Given the description of an element on the screen output the (x, y) to click on. 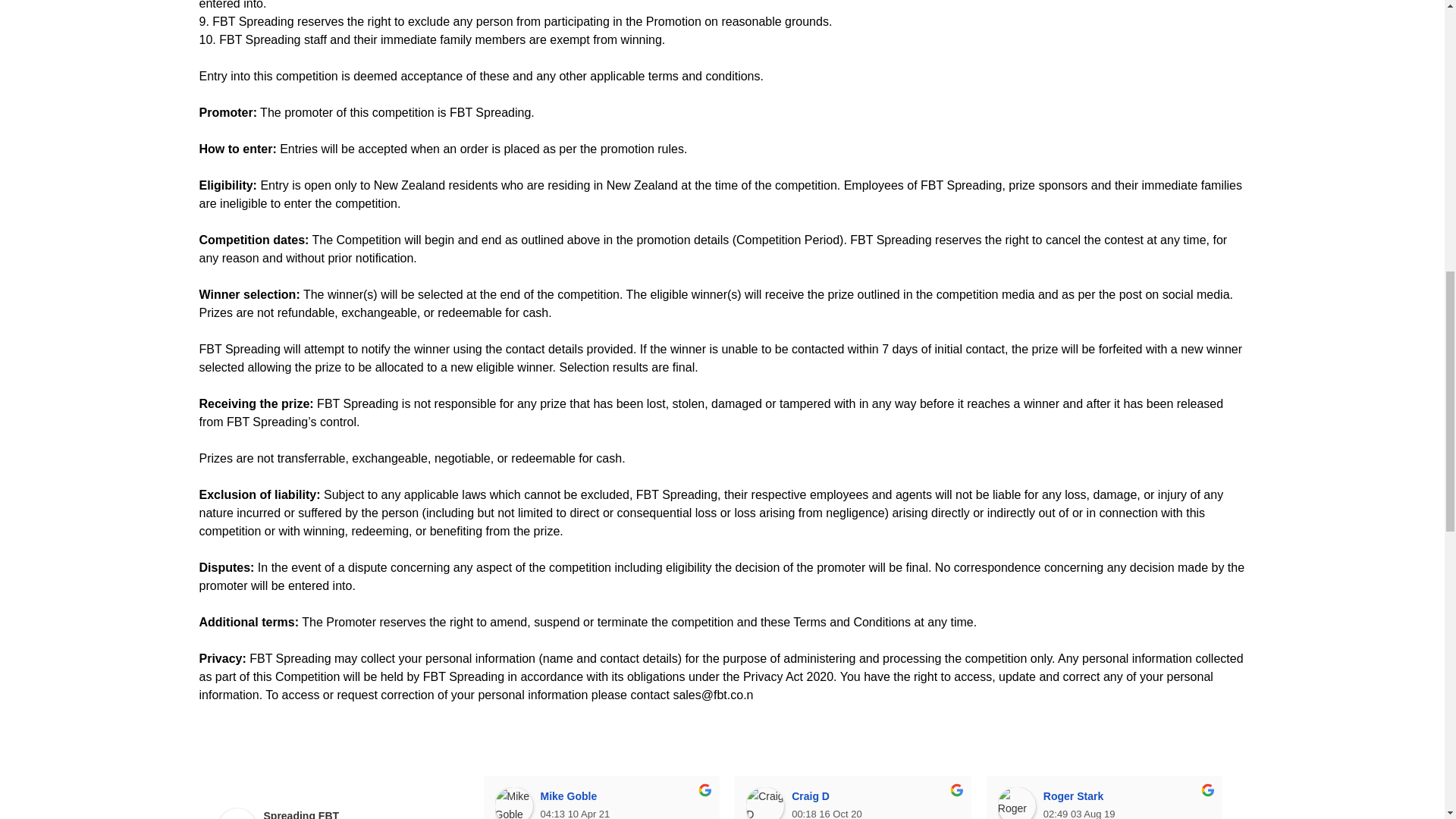
Spreading FBT (237, 813)
Mike Goble (513, 803)
Roger Stark (1016, 803)
Scott Buttimore (1268, 803)
Craig D (764, 803)
